Given the description of an element on the screen output the (x, y) to click on. 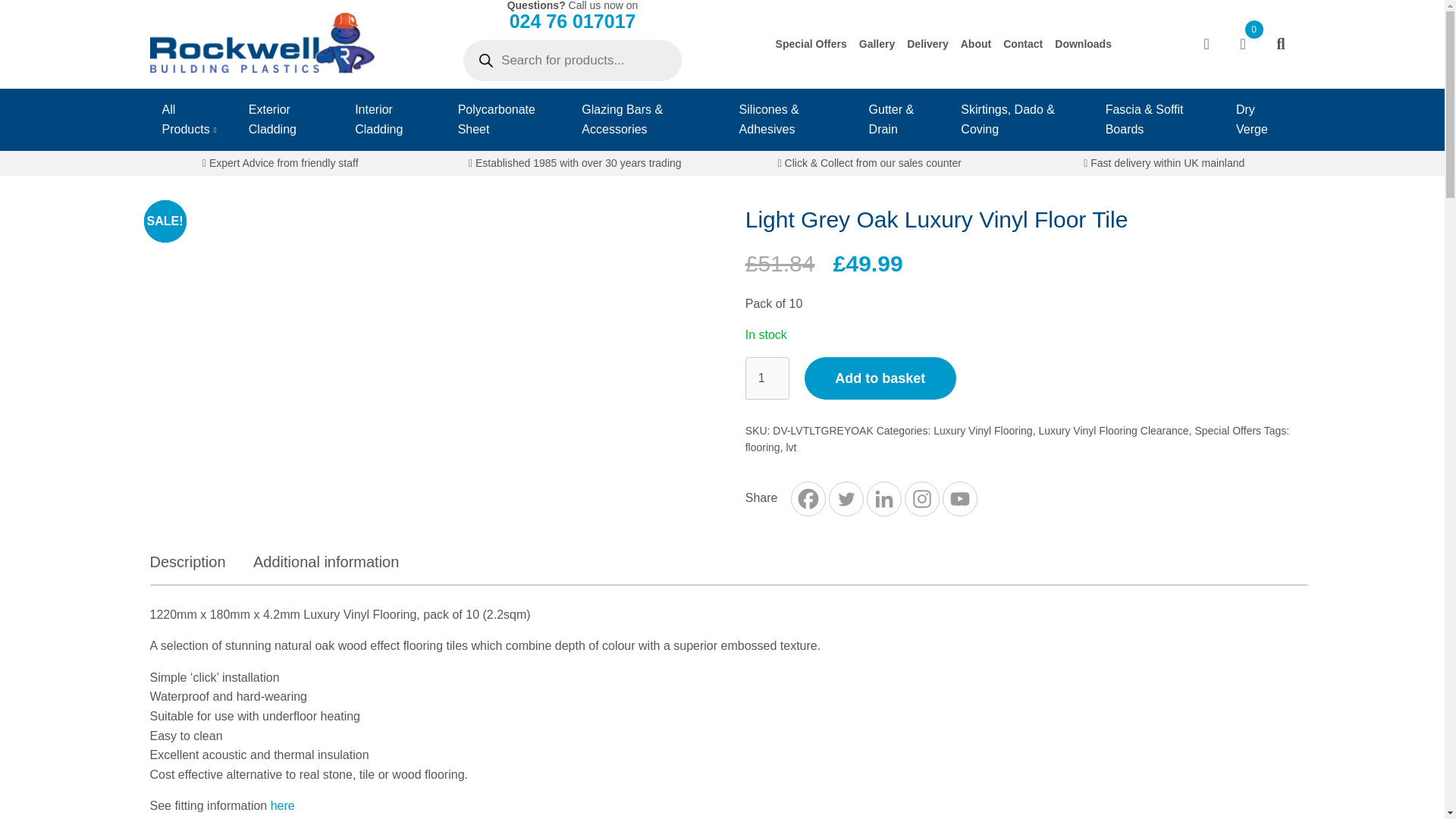
Contact (1022, 43)
Contact (1022, 43)
1 (767, 378)
024 76 017017 (572, 20)
Downloads (1083, 43)
About (976, 43)
Gallery (877, 43)
All Products (192, 119)
Delivery (927, 43)
All Products (192, 119)
Special Offers (811, 43)
Gallery (877, 43)
Downloads (1083, 43)
About (976, 43)
Special Offers (811, 43)
